Given the description of an element on the screen output the (x, y) to click on. 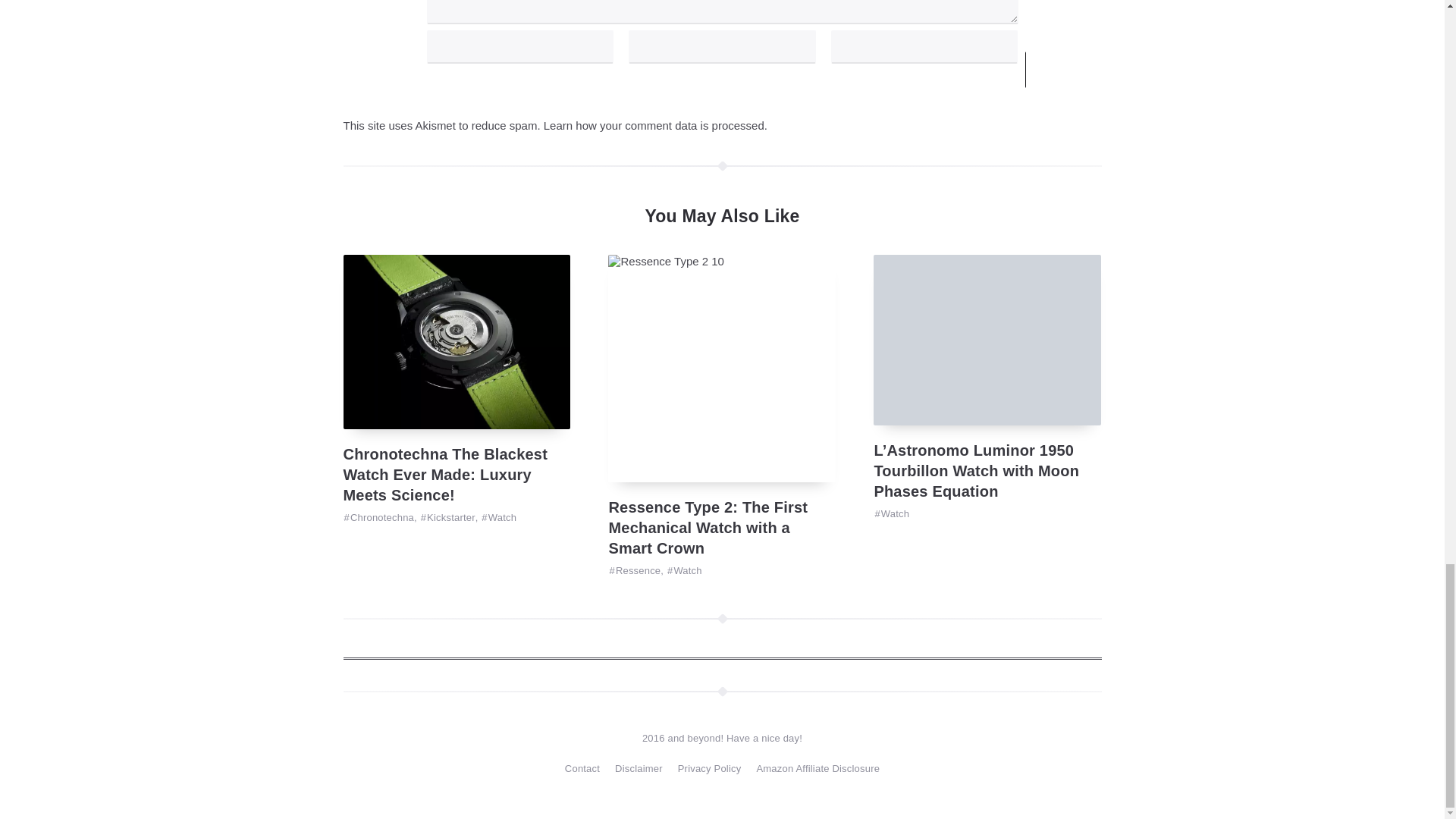
Post comment (1089, 69)
Post comment (1089, 69)
Learn how your comment data is processed (653, 124)
